Given the description of an element on the screen output the (x, y) to click on. 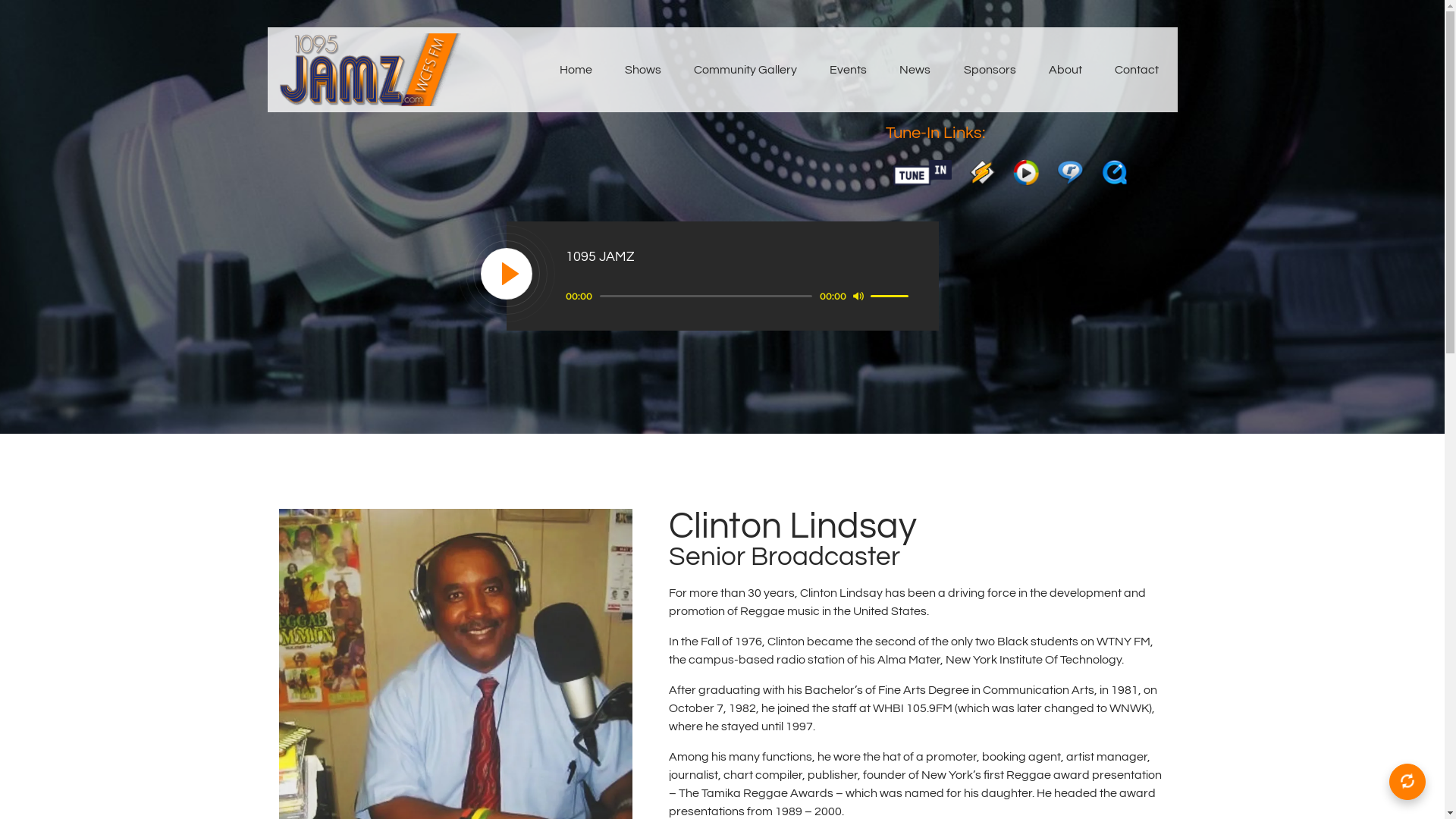
Contact Element type: text (1136, 70)
Home Element type: text (575, 70)
Community Gallery Element type: text (744, 70)
Play Element type: hover (506, 274)
Mute Element type: hover (858, 295)
Shows Element type: text (642, 70)
About Element type: text (1064, 70)
Events Element type: text (848, 70)
News Element type: text (915, 70)
Use Up/Down Arrow keys to increase or decrease volume. Element type: text (891, 294)
Sponsors Element type: text (989, 70)
